Given the description of an element on the screen output the (x, y) to click on. 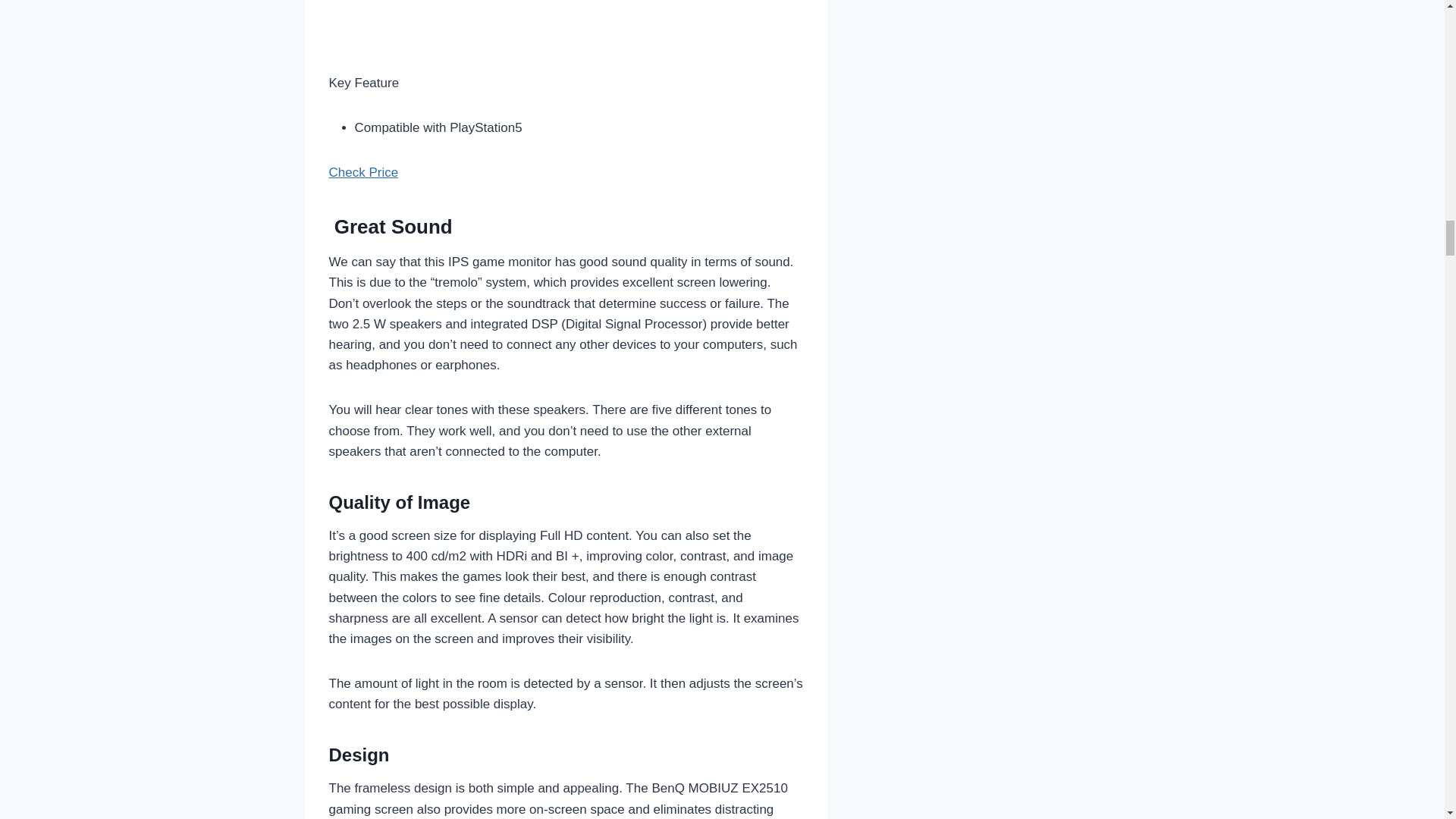
Check Price (363, 172)
